Given the description of an element on the screen output the (x, y) to click on. 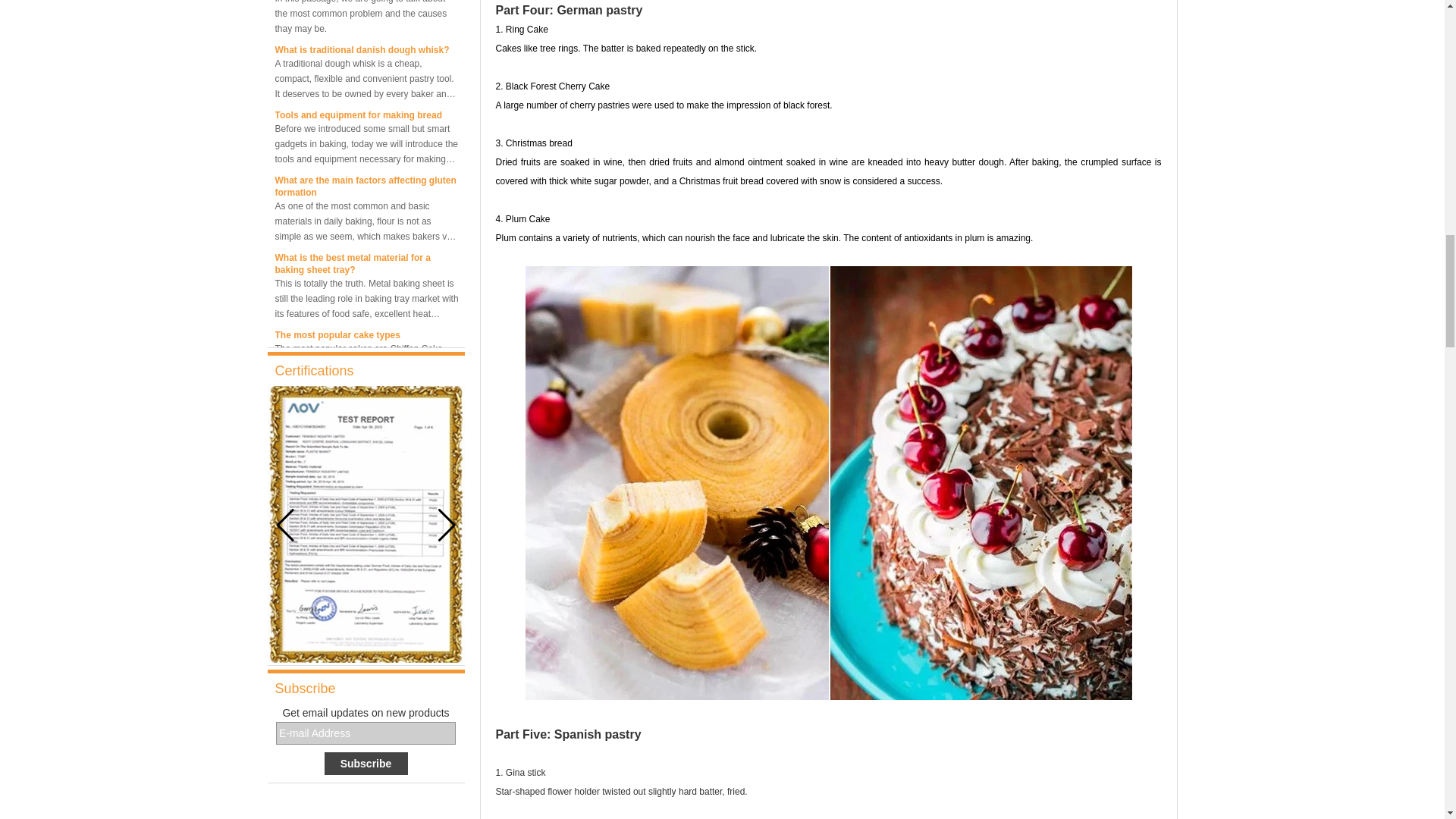
E-mail Address (365, 732)
Subscribe (365, 763)
